Given the description of an element on the screen output the (x, y) to click on. 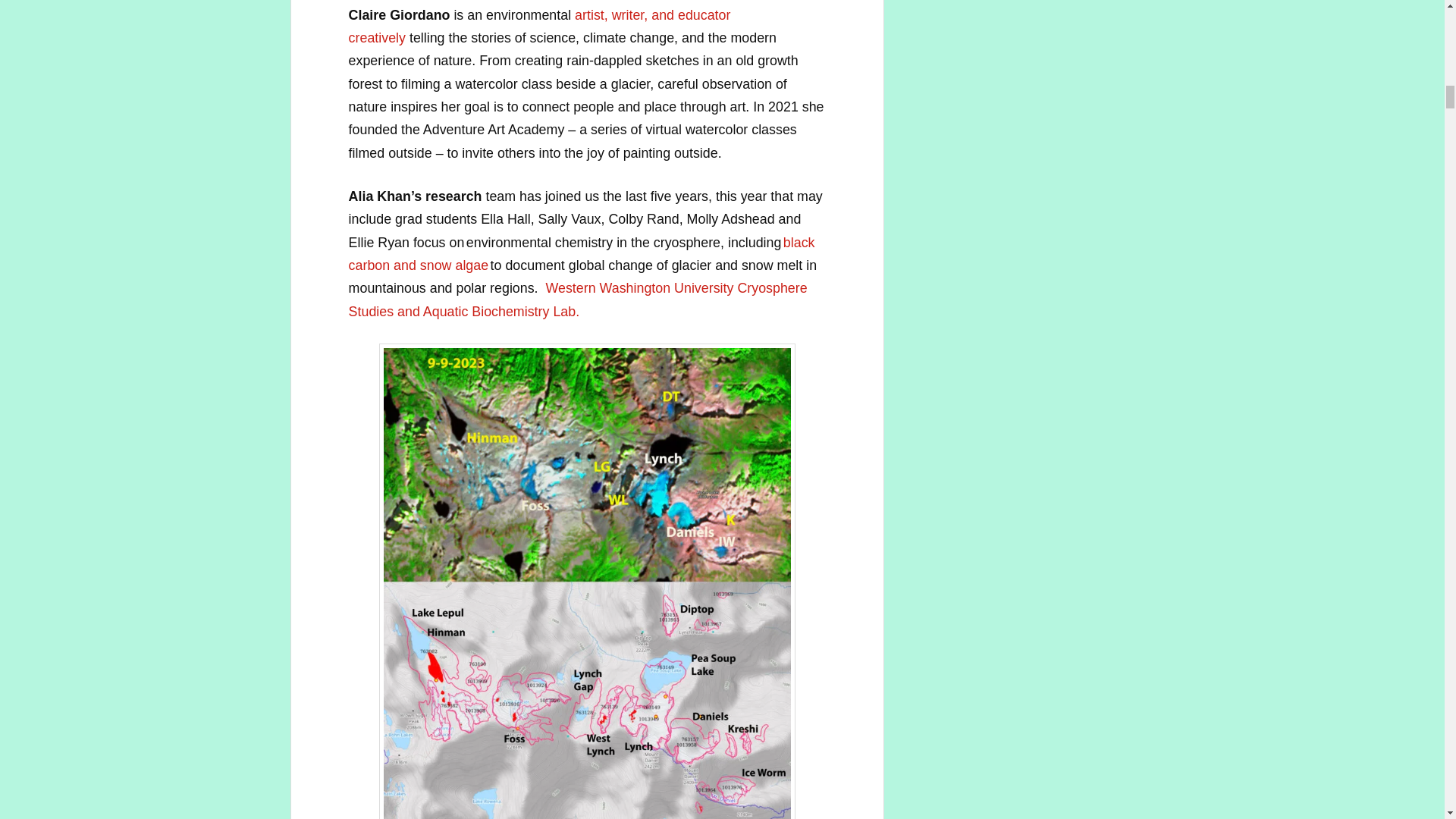
artist, writer, and educator creatively (539, 26)
black carbon and snow algae (582, 253)
